Given the description of an element on the screen output the (x, y) to click on. 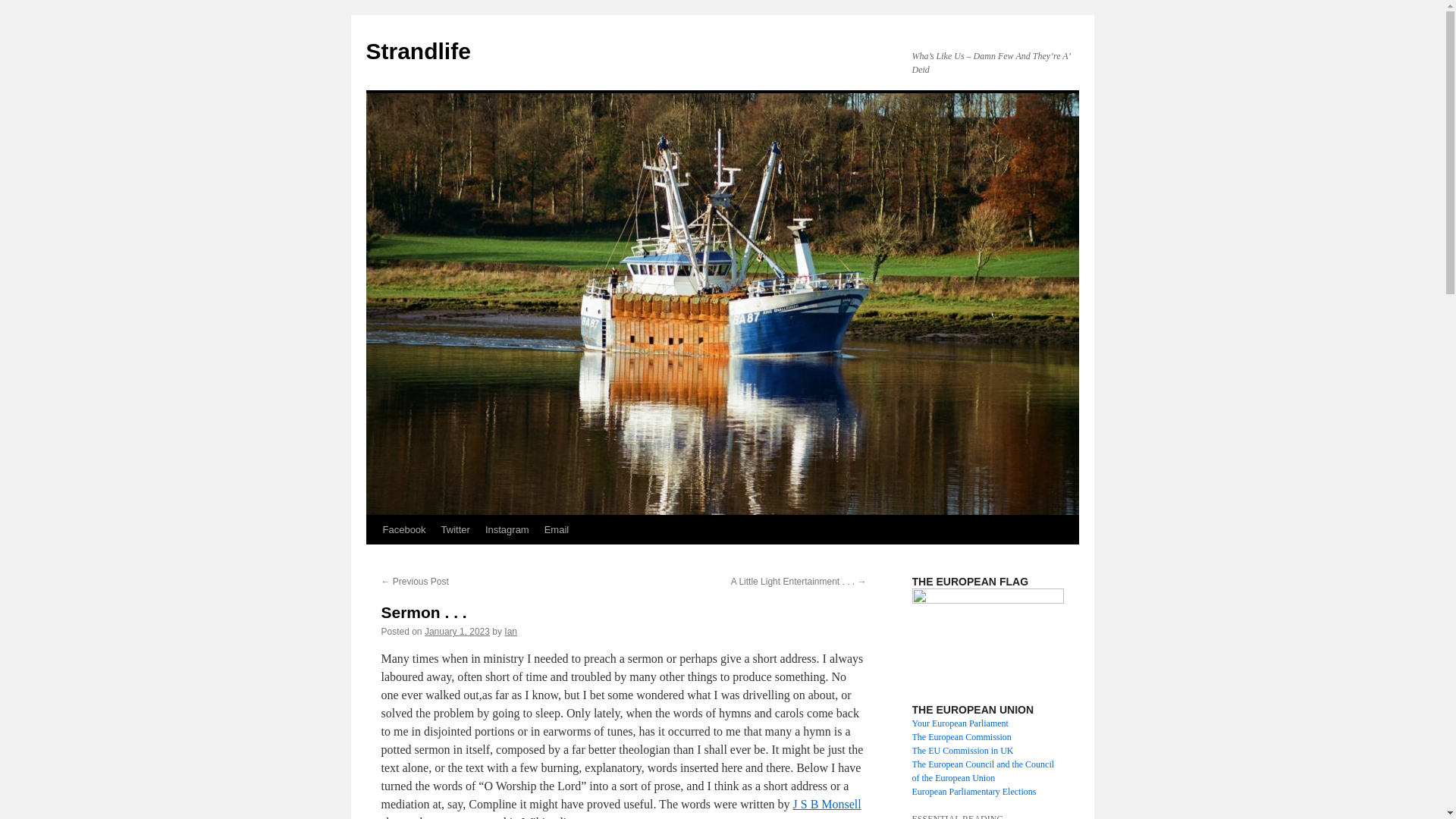
European Parliamentary Elections (973, 791)
The European Commission (960, 737)
Your European Parliament (959, 723)
Ian (509, 631)
View all posts by Ian (509, 631)
The EU Commission in UK (962, 750)
J S B Monsell (827, 803)
8:30 pm (457, 631)
January 1, 2023 (457, 631)
Strandlife (417, 50)
